Given the description of an element on the screen output the (x, y) to click on. 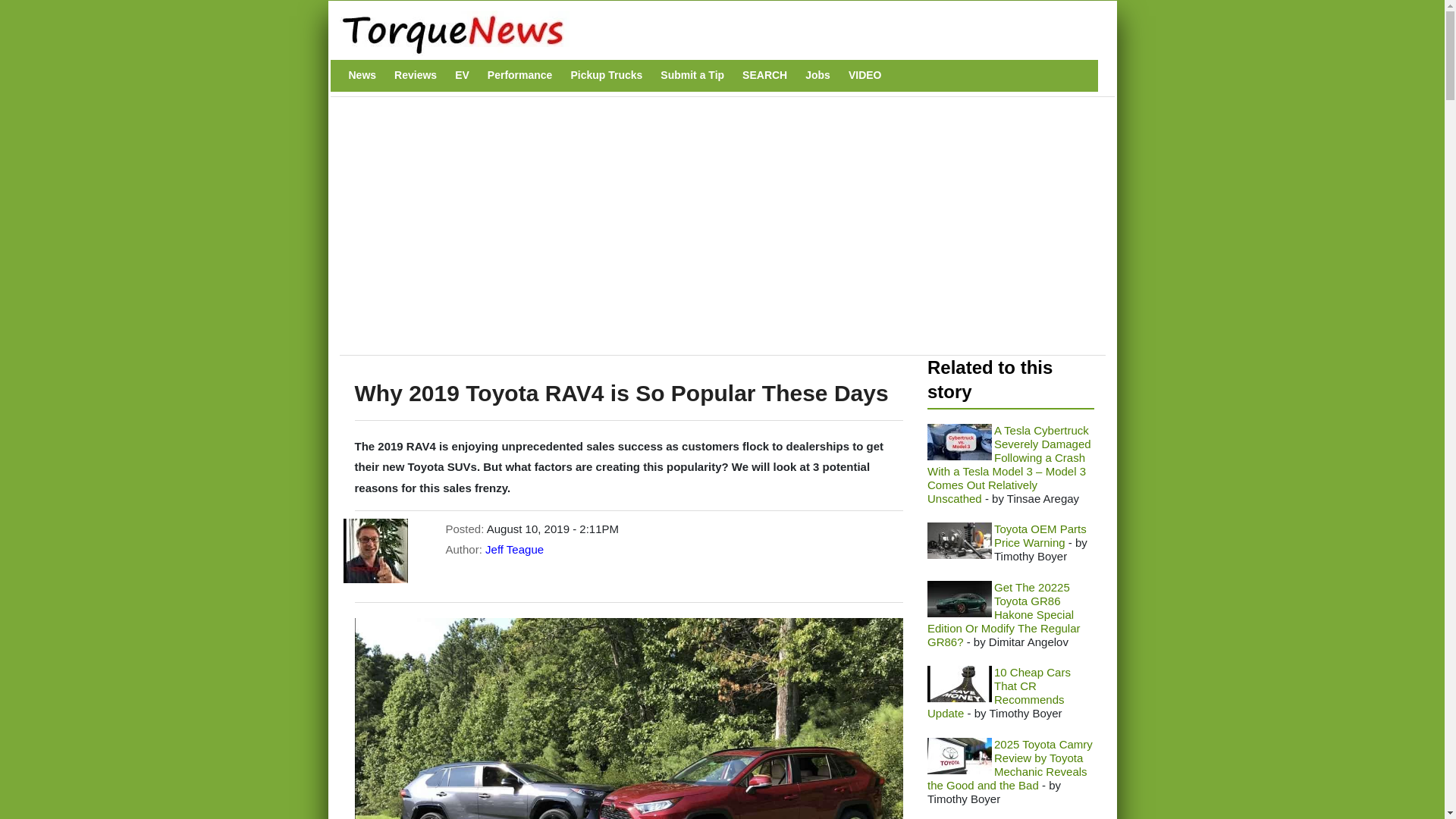
Jeff Teague (513, 549)
News (362, 75)
Submit a Tip (691, 75)
Reviews (415, 75)
SEARCH (764, 75)
Automotive journalism jobs and careers are TorqueNews.com. (817, 75)
View user profile. (513, 549)
Advertisement (624, 233)
Performance (520, 75)
Jobs (817, 75)
VIDEO (865, 75)
Home (713, 32)
News (362, 75)
Pickup Trucks (605, 75)
